Given the description of an element on the screen output the (x, y) to click on. 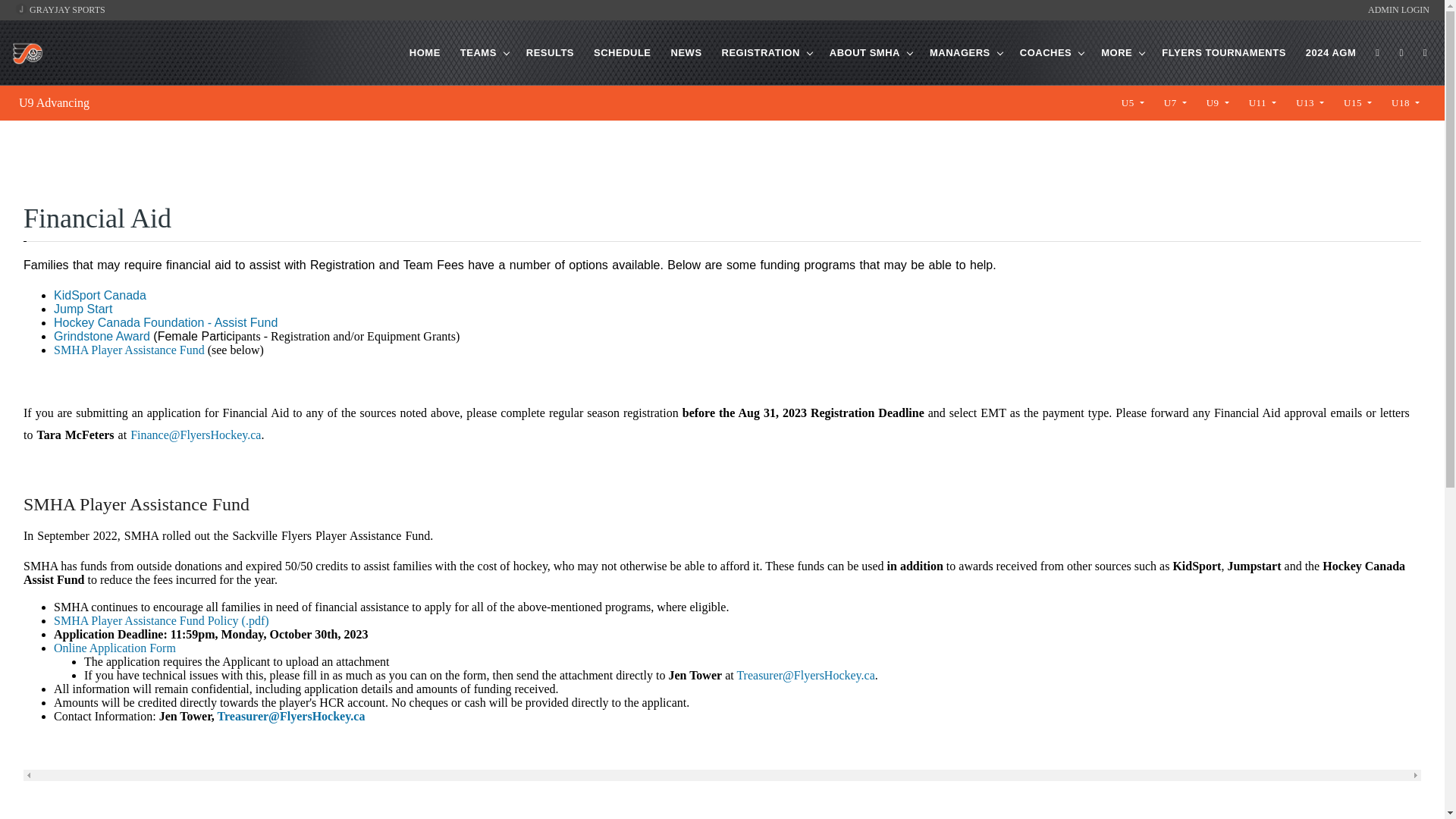
HOME (424, 52)
SCHEDULE (623, 52)
ABOUT SMHA (864, 52)
RESULTS (549, 52)
TEAMS (478, 52)
NEWS (686, 52)
GRAYJAY SPORTS (59, 9)
ADMIN LOGIN (1398, 9)
REGISTRATION (761, 52)
